Given the description of an element on the screen output the (x, y) to click on. 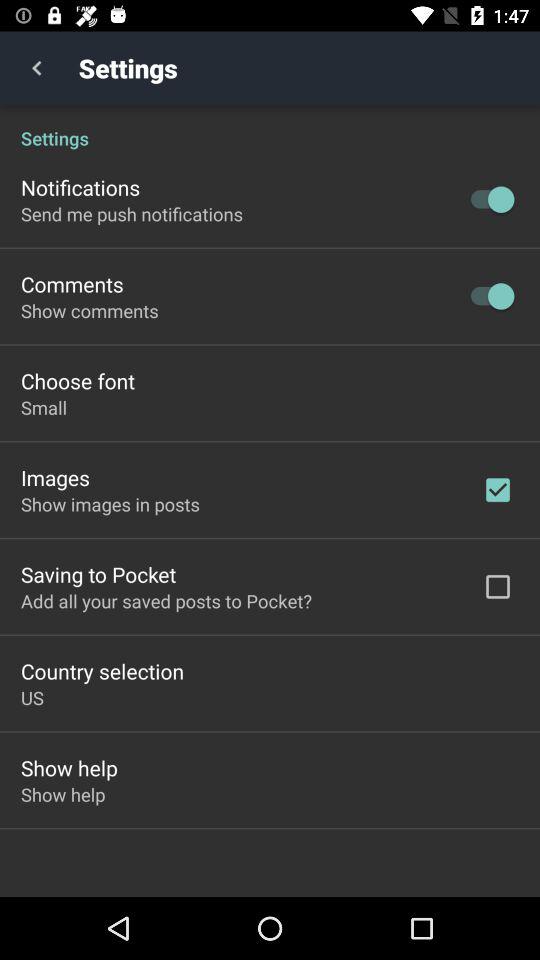
click country selection (102, 670)
